Given the description of an element on the screen output the (x, y) to click on. 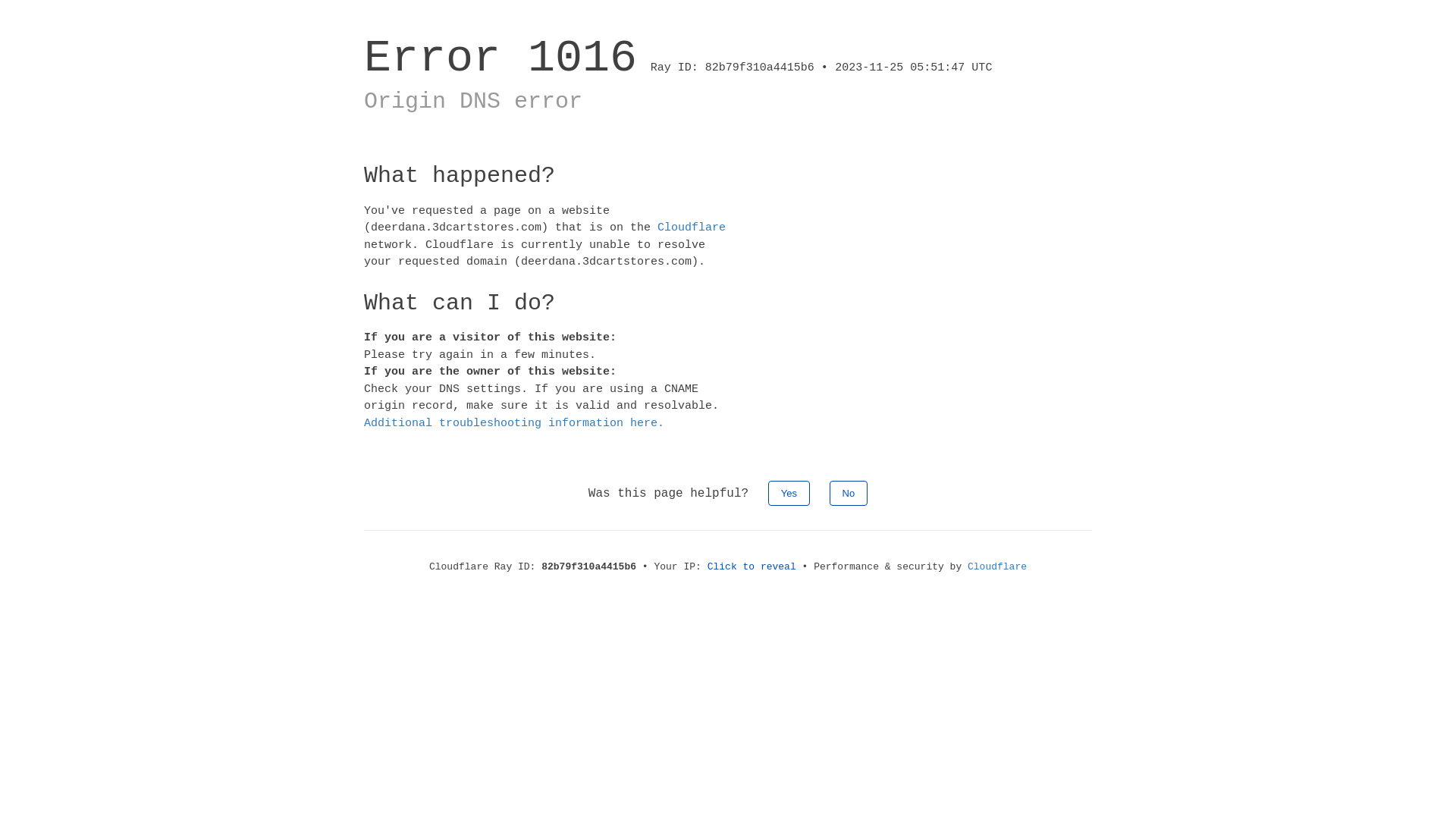
Click to reveal Element type: text (751, 566)
Cloudflare Element type: text (996, 566)
Additional troubleshooting information here. Element type: text (514, 423)
No Element type: text (848, 492)
Cloudflare Element type: text (691, 227)
Yes Element type: text (788, 492)
